Given the description of an element on the screen output the (x, y) to click on. 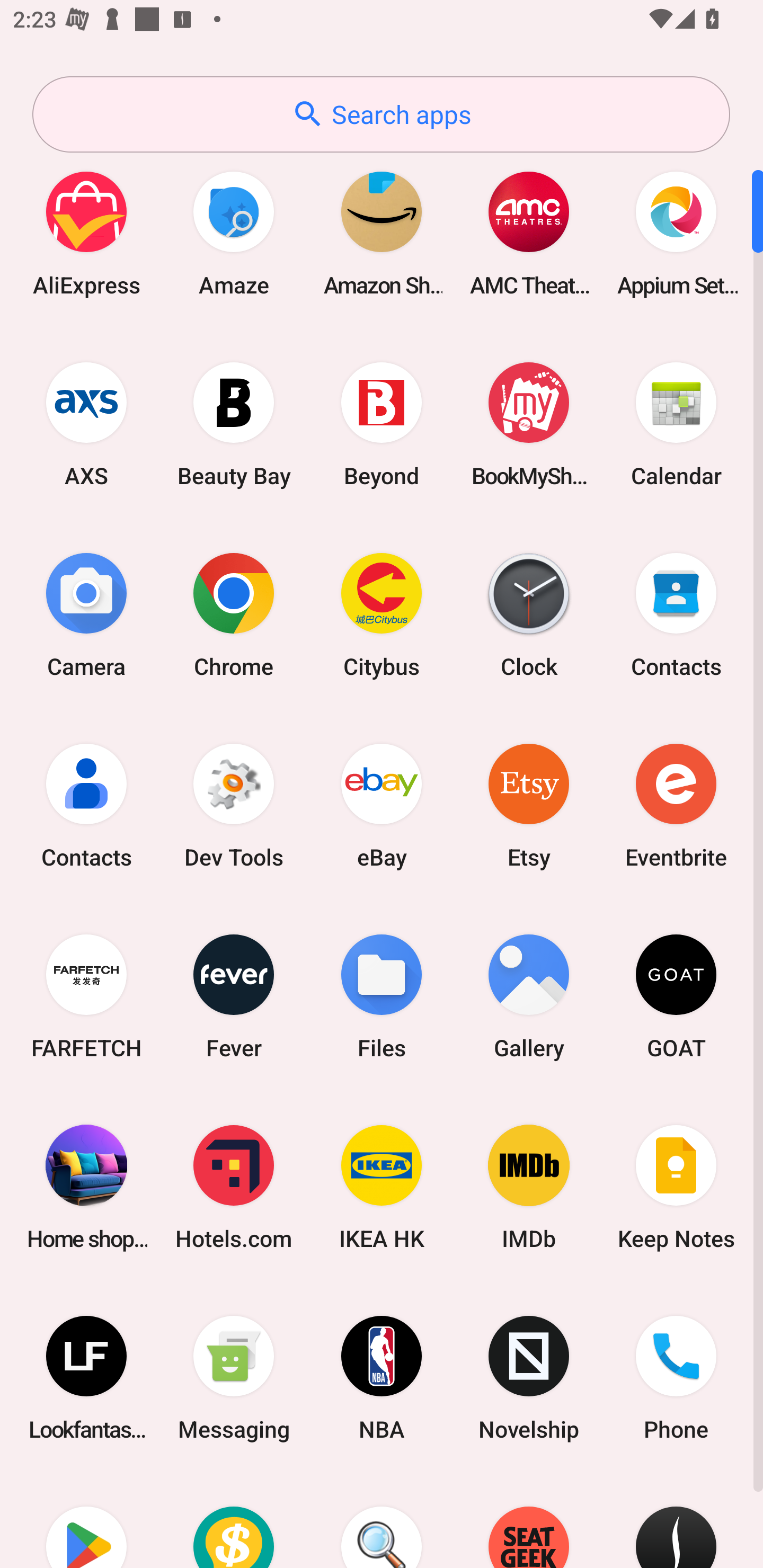
  Search apps (381, 114)
AliExpress (86, 233)
Amaze (233, 233)
Amazon Shopping (381, 233)
AMC Theatres (528, 233)
Appium Settings (676, 233)
AXS (86, 424)
Beauty Bay (233, 424)
Beyond (381, 424)
BookMyShow (528, 424)
Calendar (676, 424)
Camera (86, 614)
Chrome (233, 614)
Citybus (381, 614)
Clock (528, 614)
Contacts (676, 614)
Contacts (86, 805)
Dev Tools (233, 805)
eBay (381, 805)
Etsy (528, 805)
Eventbrite (676, 805)
FARFETCH (86, 996)
Fever (233, 996)
Files (381, 996)
Gallery (528, 996)
GOAT (676, 996)
Home shopping (86, 1186)
Hotels.com (233, 1186)
IKEA HK (381, 1186)
IMDb (528, 1186)
Keep Notes (676, 1186)
Lookfantastic (86, 1377)
Messaging (233, 1377)
NBA (381, 1377)
Novelship (528, 1377)
Phone (676, 1377)
Play Store (86, 1520)
Price (233, 1520)
Search (381, 1520)
SeatGeek (528, 1520)
Sephora (676, 1520)
